Given the description of an element on the screen output the (x, y) to click on. 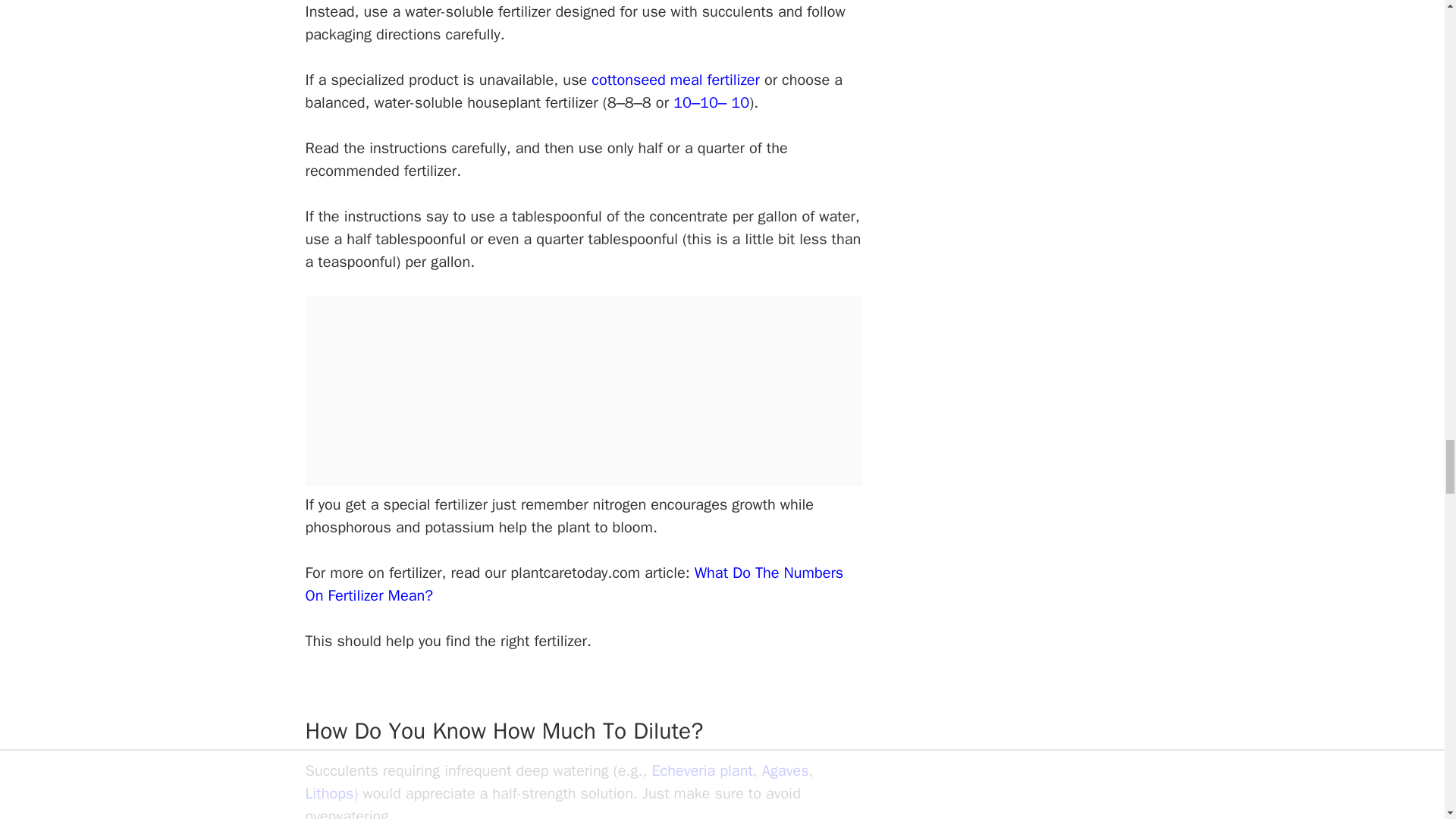
cottonseed meal fertilizer (675, 79)
What Do The Numbers On Fertilizer Mean? (573, 584)
Echeveria plant (701, 770)
Lithops (328, 793)
Agaves (785, 770)
